Given the description of an element on the screen output the (x, y) to click on. 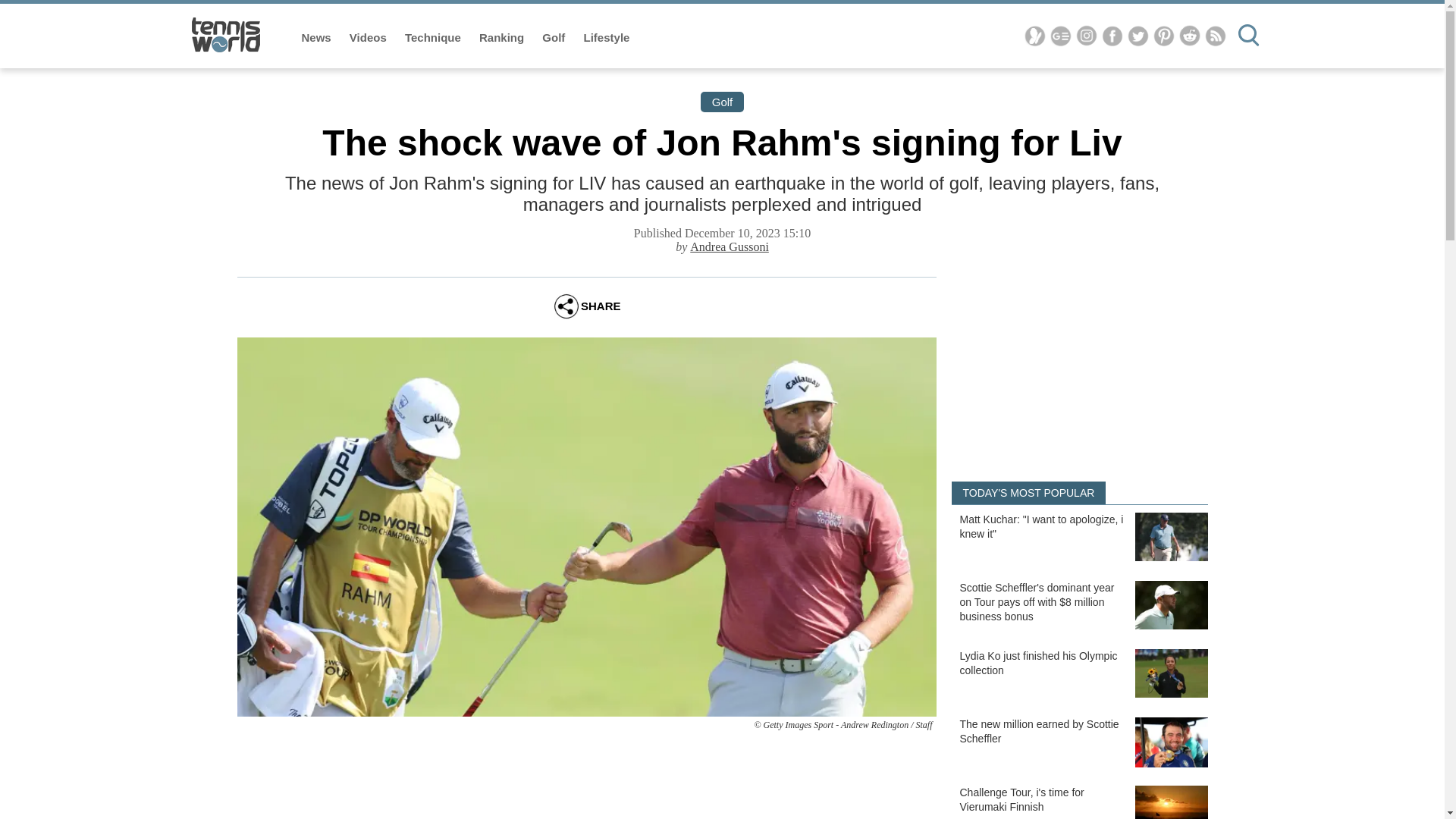
Ranking (503, 37)
Lifestyle (606, 37)
Videos (369, 37)
Golf (554, 37)
News (317, 37)
Technique (434, 37)
